Given the description of an element on the screen output the (x, y) to click on. 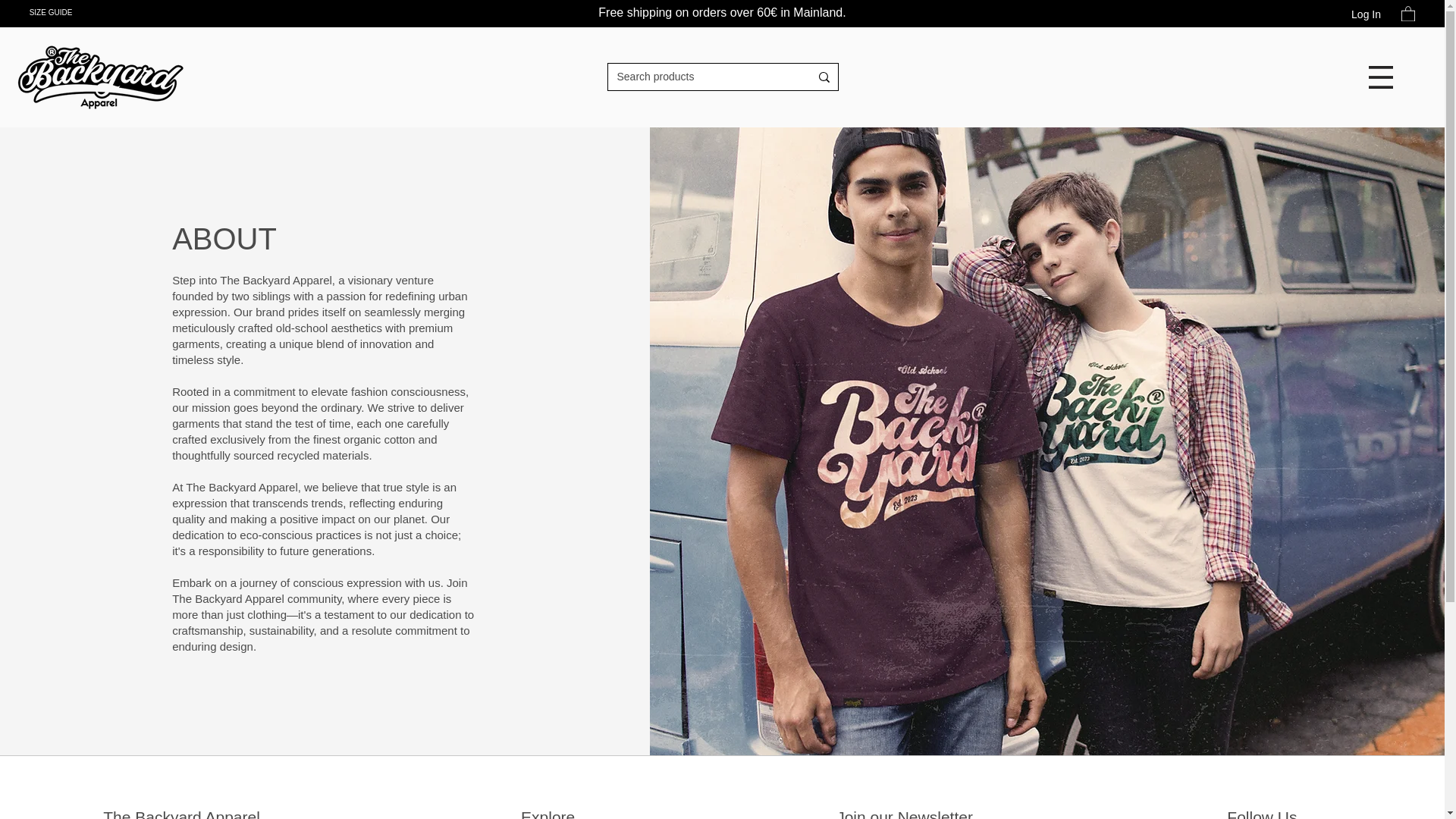
Log In (1365, 15)
SIZE GUIDE (50, 12)
